Given the description of an element on the screen output the (x, y) to click on. 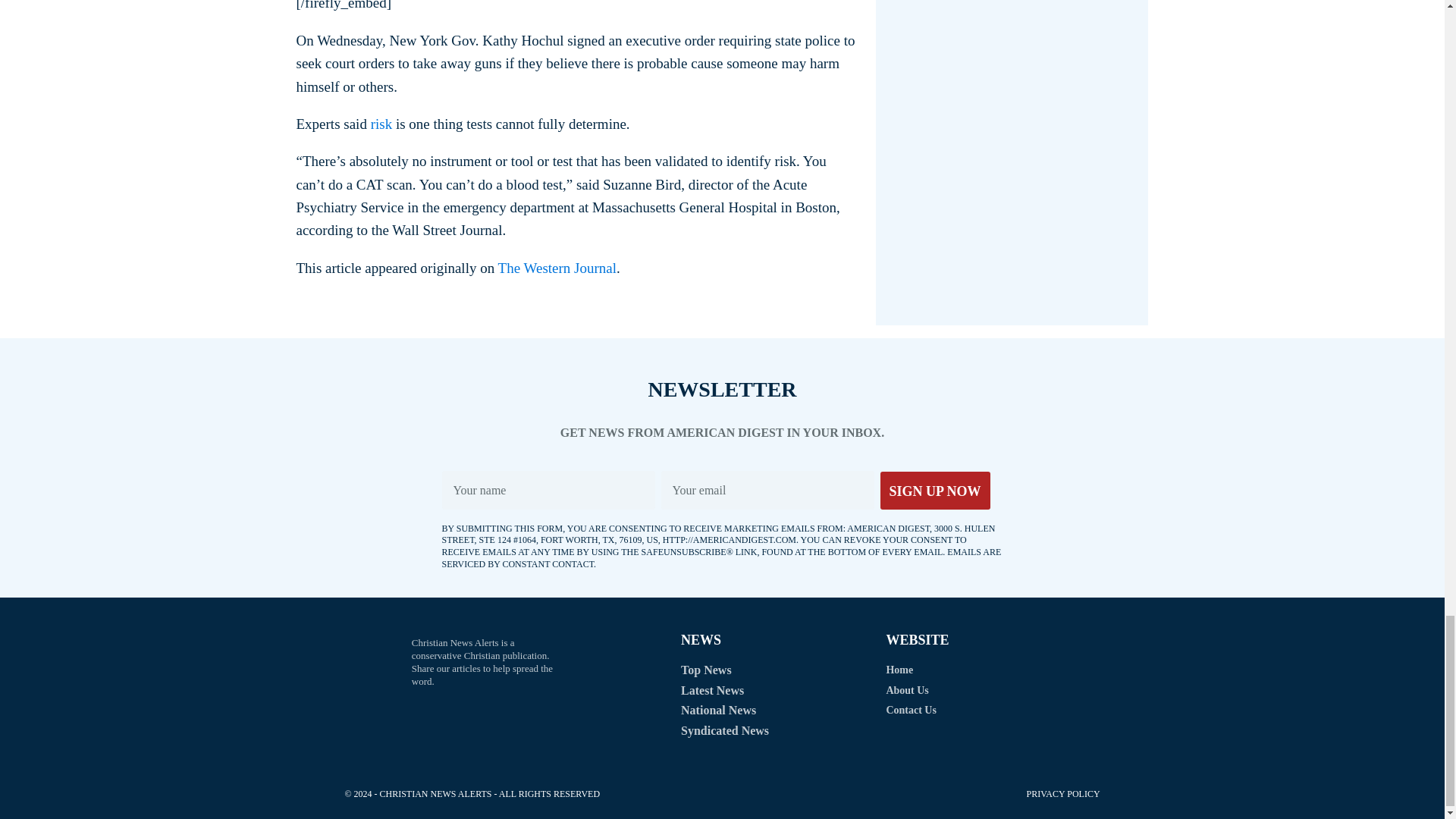
risk (382, 123)
SIGN UP NOW (934, 490)
The Western Journal (556, 268)
